Given the description of an element on the screen output the (x, y) to click on. 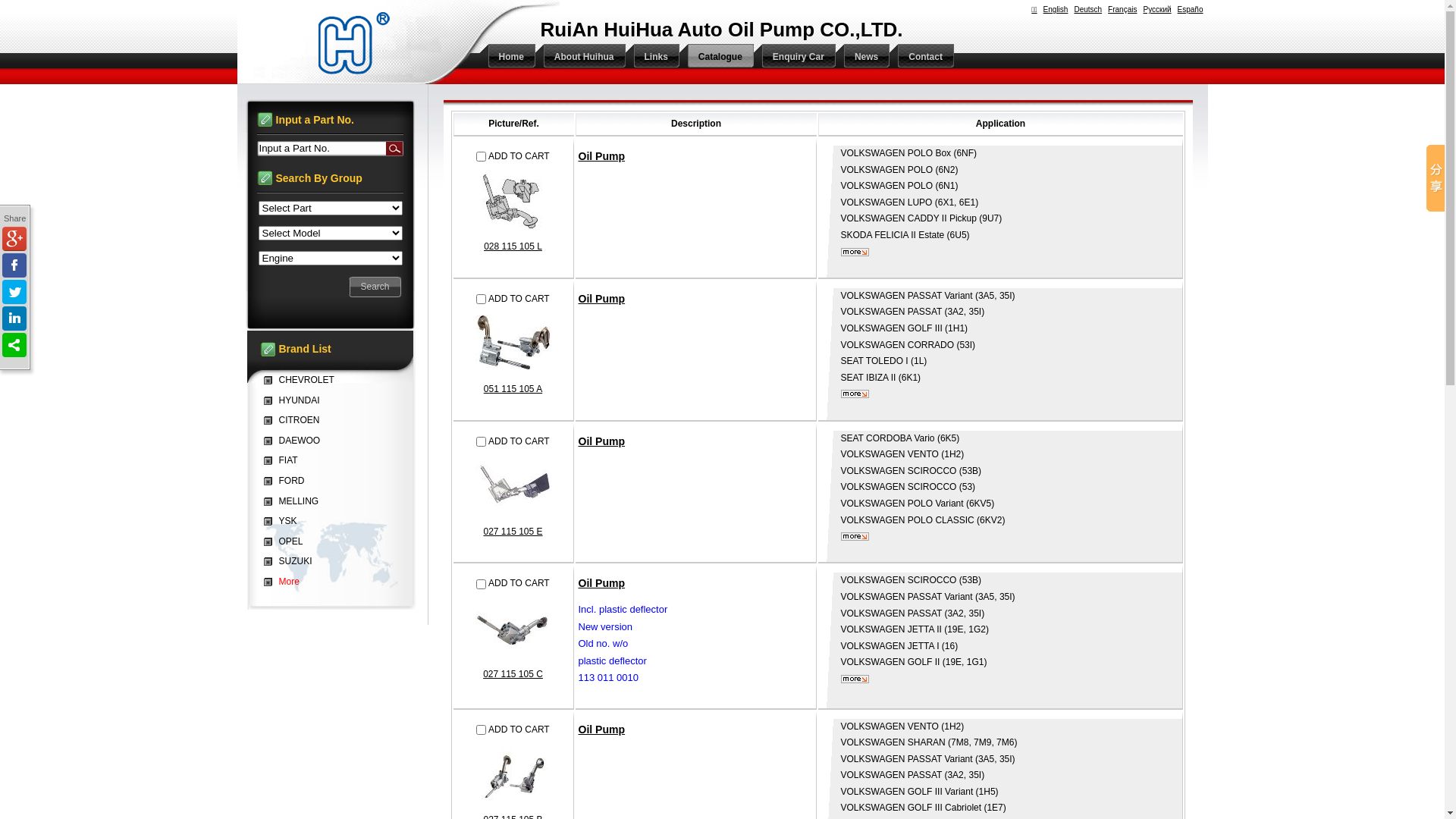
Catalogue Element type: text (716, 56)
Search Element type: text (374, 286)
SUZUKI Element type: text (291, 560)
Enquiry Car Element type: text (794, 56)
Oil Pump Element type: text (600, 441)
Deutsch Element type: text (1087, 8)
Contact Element type: text (921, 56)
Home Element type: text (506, 56)
027 115 105 C Element type: text (513, 684)
Links Element type: text (651, 56)
CHEVROLET Element type: text (302, 379)
OPEL Element type: text (287, 541)
027 115 105 E Element type: text (513, 541)
More... Element type: text (854, 678)
051 115 105 A Element type: text (513, 399)
English Element type: text (1055, 8)
More... Element type: text (854, 251)
YSK Element type: text (284, 520)
Oil Pump Element type: text (600, 583)
FIAT Element type: text (284, 460)
CITROEN Element type: text (295, 419)
DAEWOO Element type: text (295, 440)
Oil Pump Element type: text (600, 298)
More... Element type: text (854, 393)
Input a Part No. Element type: hover (320, 148)
More Element type: text (285, 581)
News Element type: text (862, 56)
FORD Element type: text (287, 480)
028 115 105 L Element type: text (513, 256)
Search Element type: text (393, 148)
About Huihua Element type: text (580, 56)
Oil Pump Element type: text (600, 729)
HYUNDAI Element type: text (295, 400)
Oil Pump Element type: text (600, 156)
MELLING Element type: text (295, 500)
More... Element type: text (854, 536)
